Given the description of an element on the screen output the (x, y) to click on. 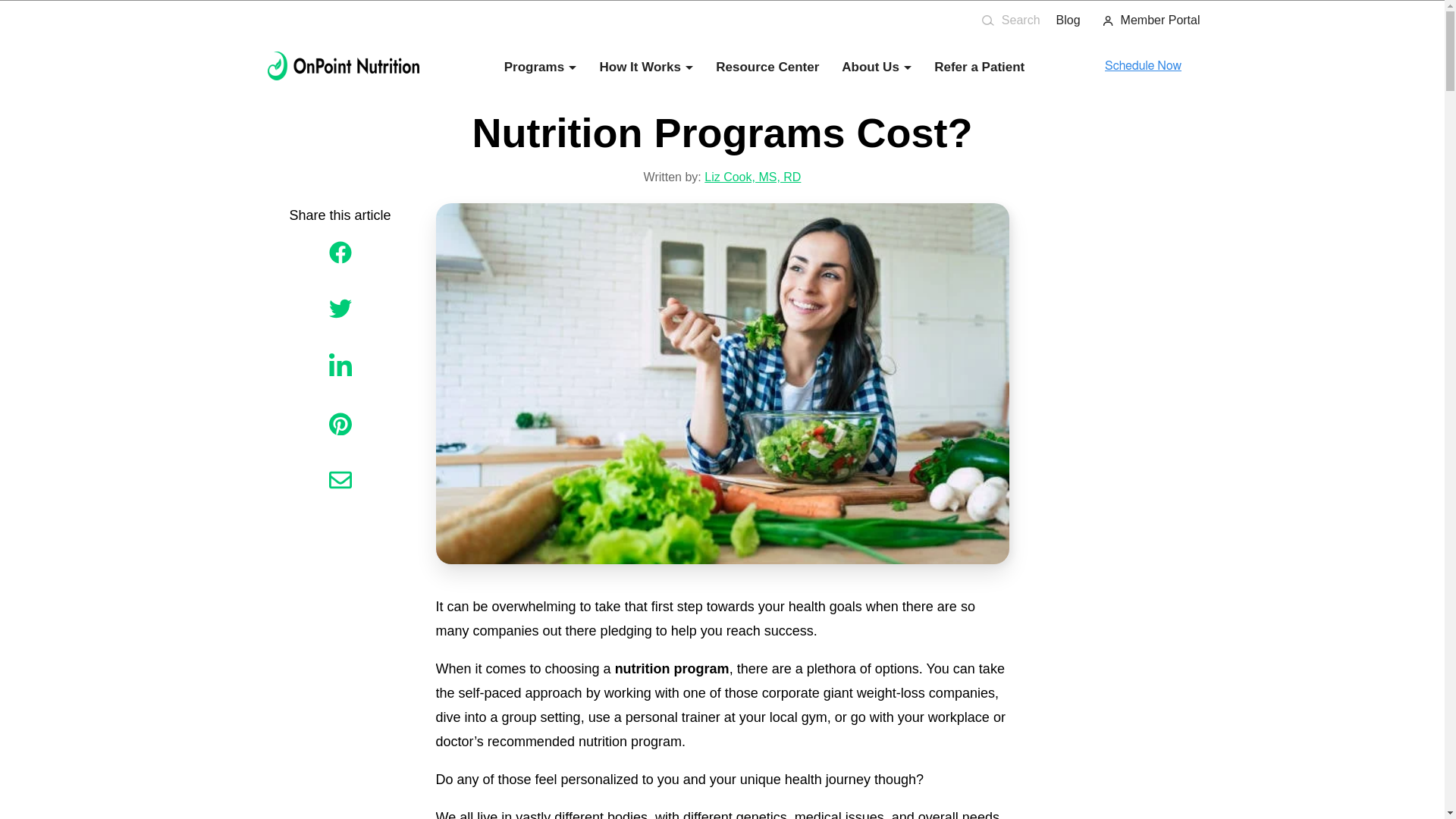
Refer a Patient (979, 67)
Blog (1068, 20)
Pin! (340, 425)
Member Portal (1145, 20)
Tweet on Twitter (340, 309)
Resource Center (767, 67)
Share on LinkedIn (340, 365)
Search (1010, 20)
Email (340, 481)
Share on Facebook (340, 253)
